Given the description of an element on the screen output the (x, y) to click on. 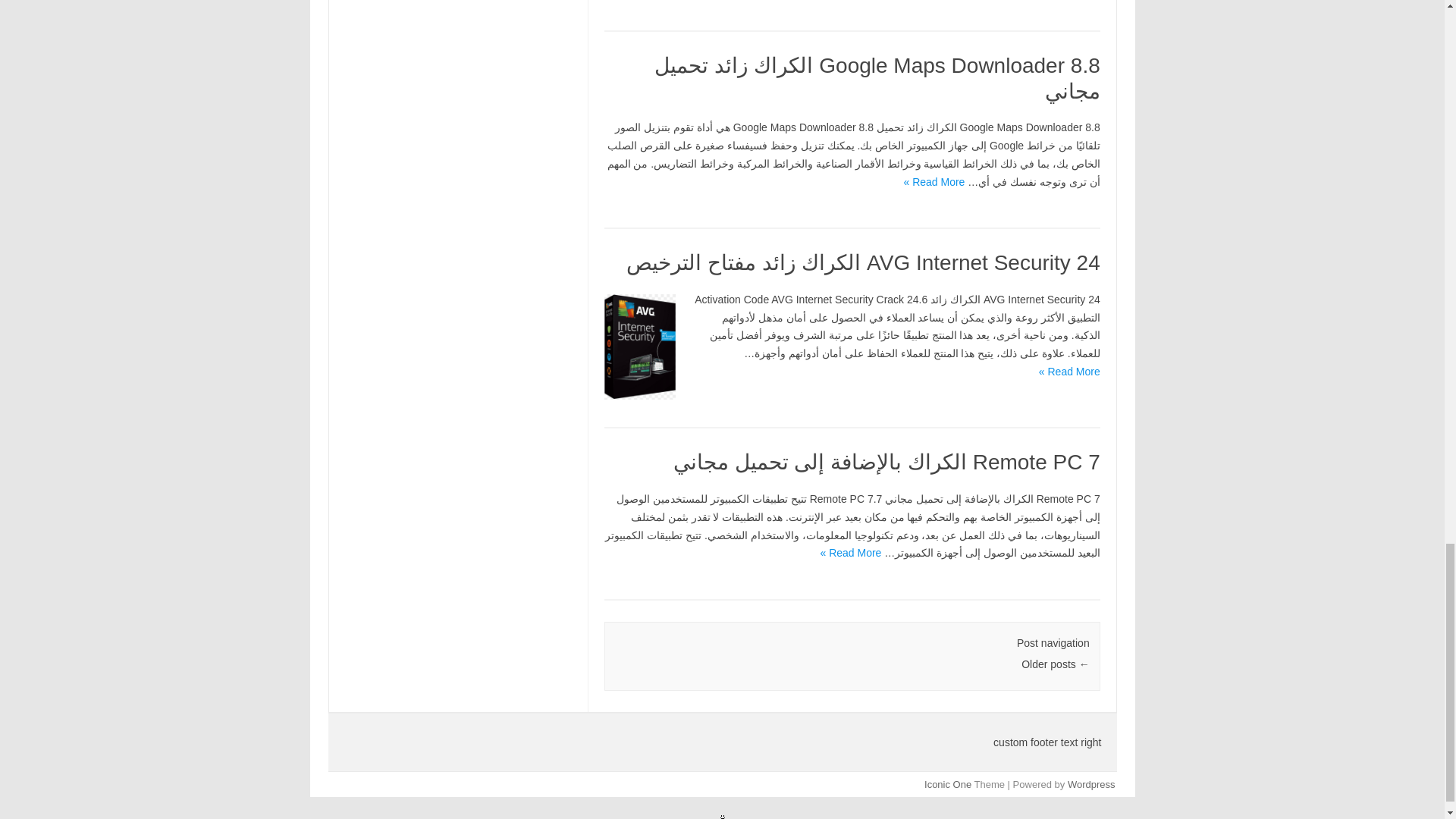
Iconic One (947, 784)
Wordpress (1091, 784)
